Given the description of an element on the screen output the (x, y) to click on. 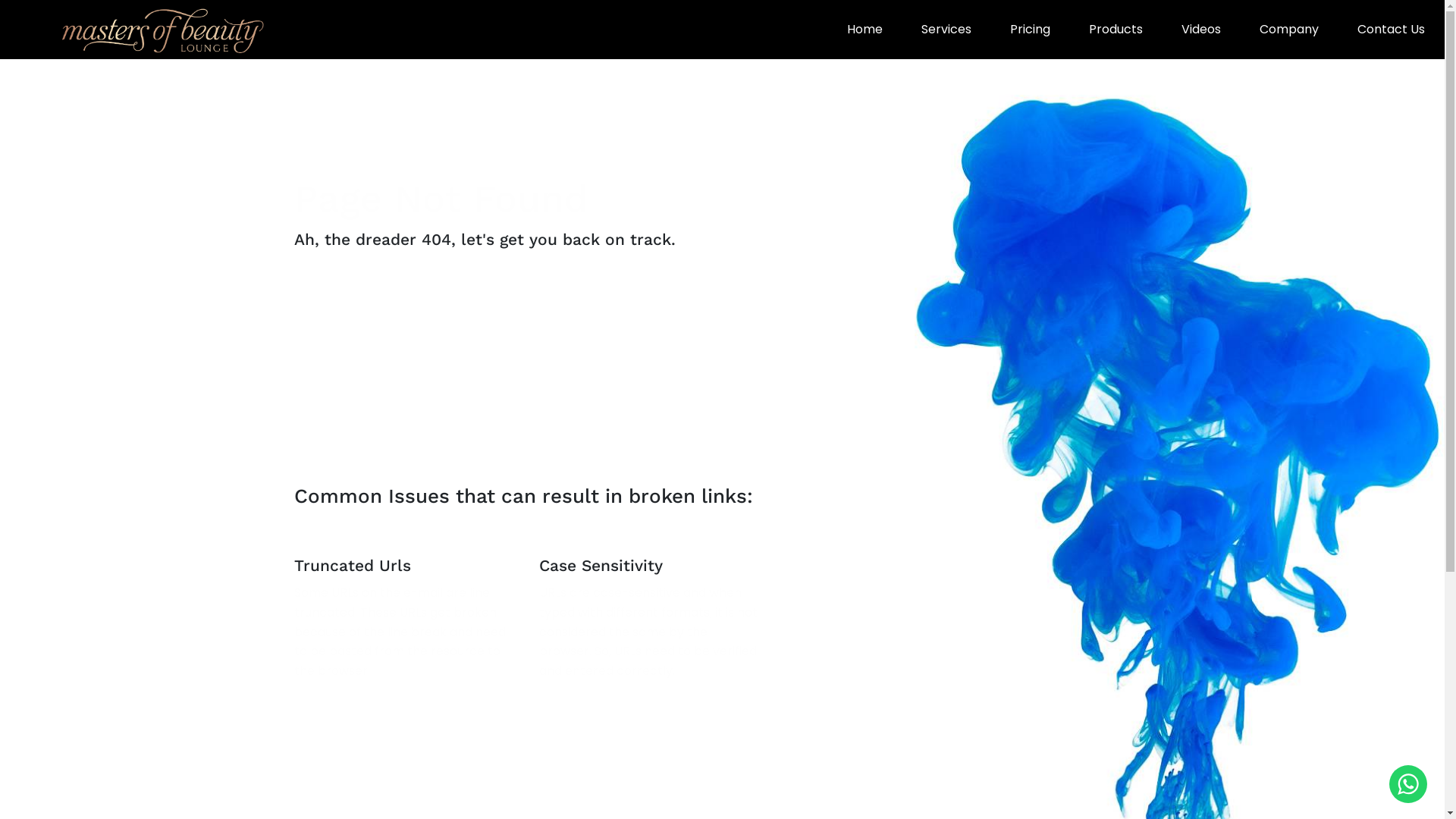
Home Element type: text (864, 29)
Products Element type: text (1115, 29)
Company Element type: text (1289, 29)
Services Element type: text (946, 29)
Contact Us Element type: text (1391, 29)
Videos Element type: text (1201, 29)
Pricing Element type: text (1030, 29)
